Given the description of an element on the screen output the (x, y) to click on. 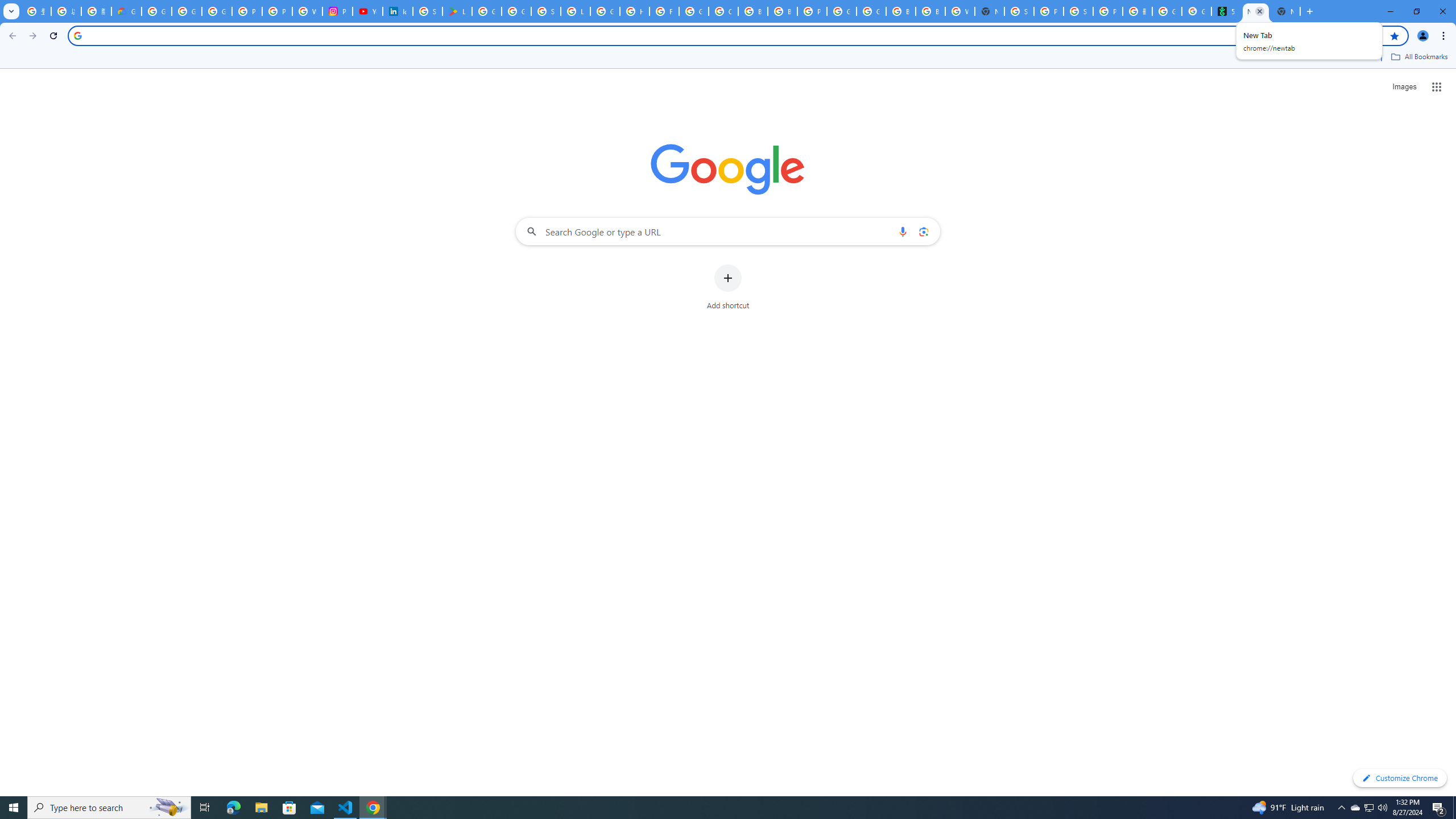
Privacy Help Center - Policies Help (277, 11)
